Given the description of an element on the screen output the (x, y) to click on. 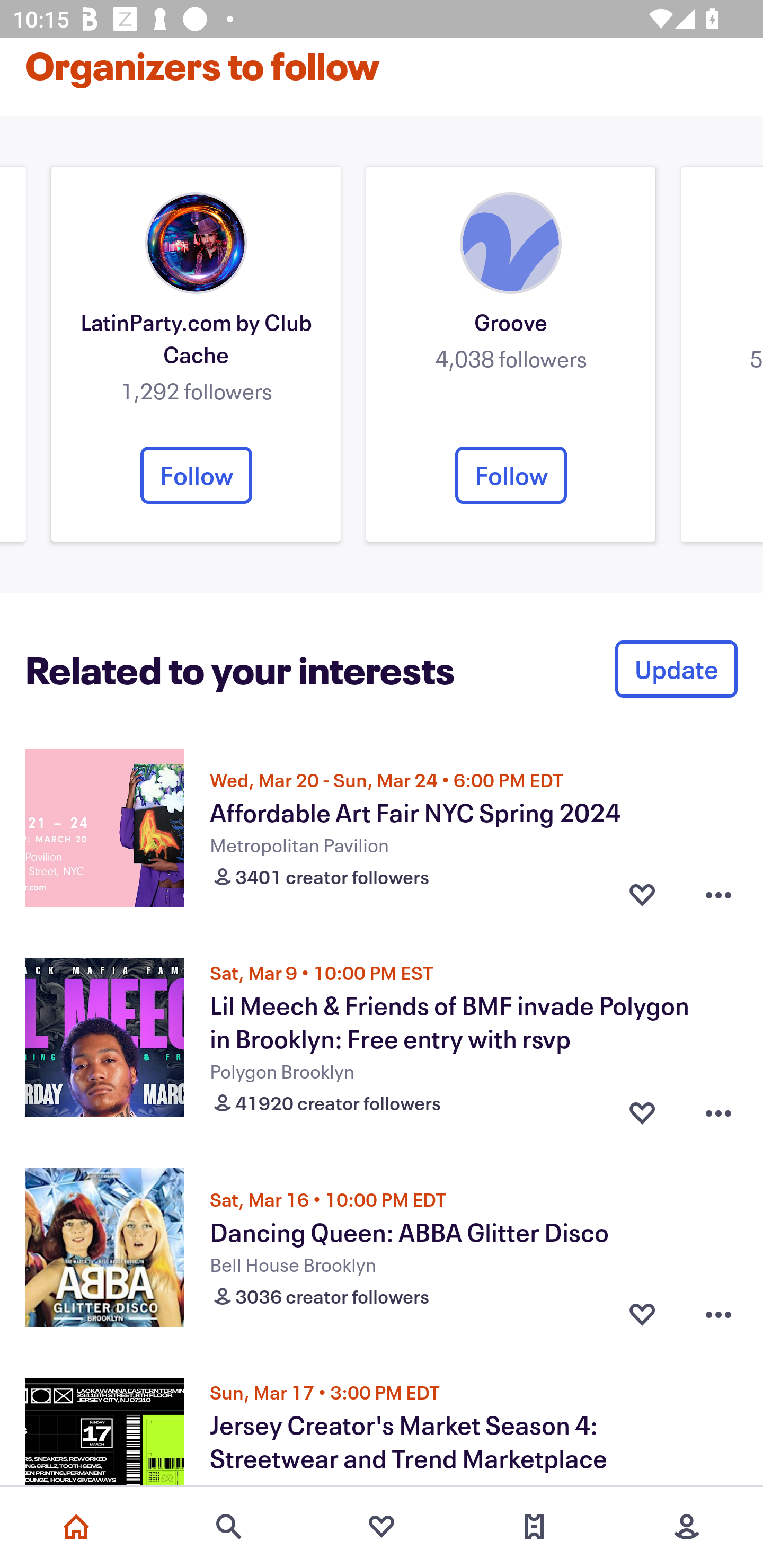
Follow Organizer's follow button (196, 474)
Follow Organizer's follow button (510, 474)
Update (675, 668)
Favorite button (642, 894)
Overflow menu button (718, 894)
Favorite button (642, 1109)
Overflow menu button (718, 1109)
Favorite button (642, 1313)
Overflow menu button (718, 1313)
Home (76, 1526)
Search events (228, 1526)
Favorites (381, 1526)
Tickets (533, 1526)
More (686, 1526)
